Given the description of an element on the screen output the (x, y) to click on. 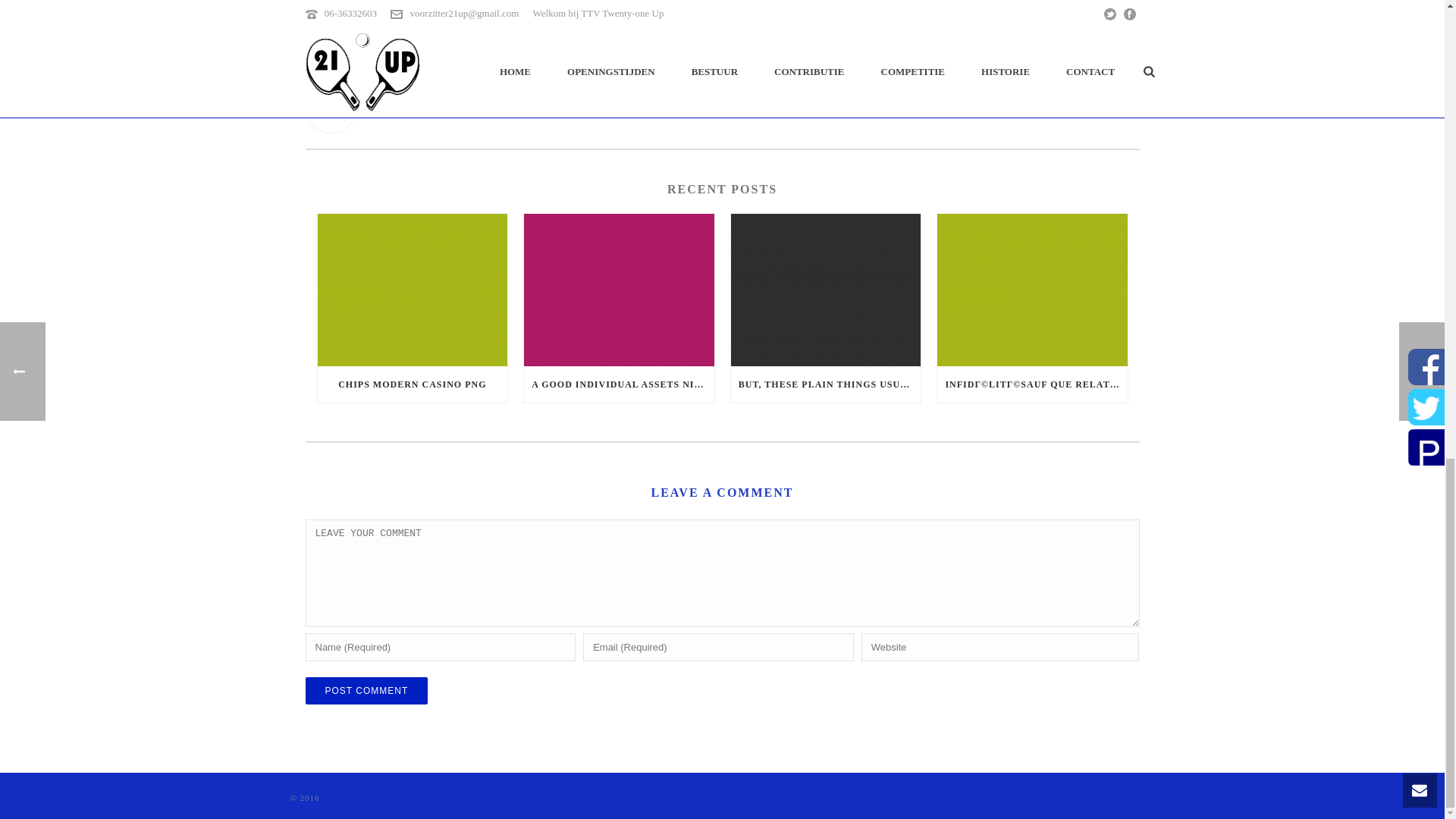
POST COMMENT (366, 690)
Get in touch with me via email (374, 110)
CHIPS MODERN CASINO PNG (411, 384)
Chips Modern casino Png (411, 289)
admin2 (721, 85)
A GOOD INDIVIDUAL ASSETS NIGHTMARE (619, 384)
A good Individual Assets Nightmare (619, 289)
